Given the description of an element on the screen output the (x, y) to click on. 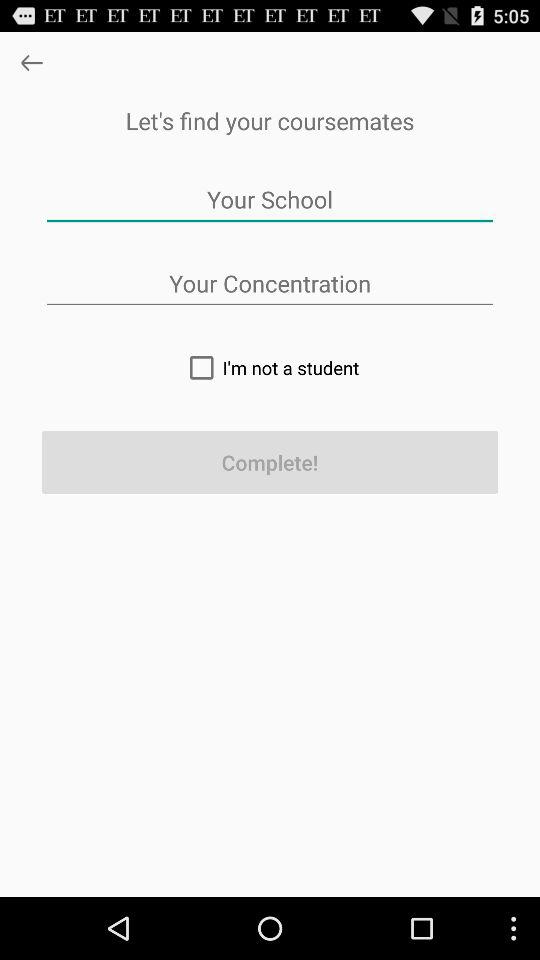
dialogue box to enter our concentration (270, 283)
